Given the description of an element on the screen output the (x, y) to click on. 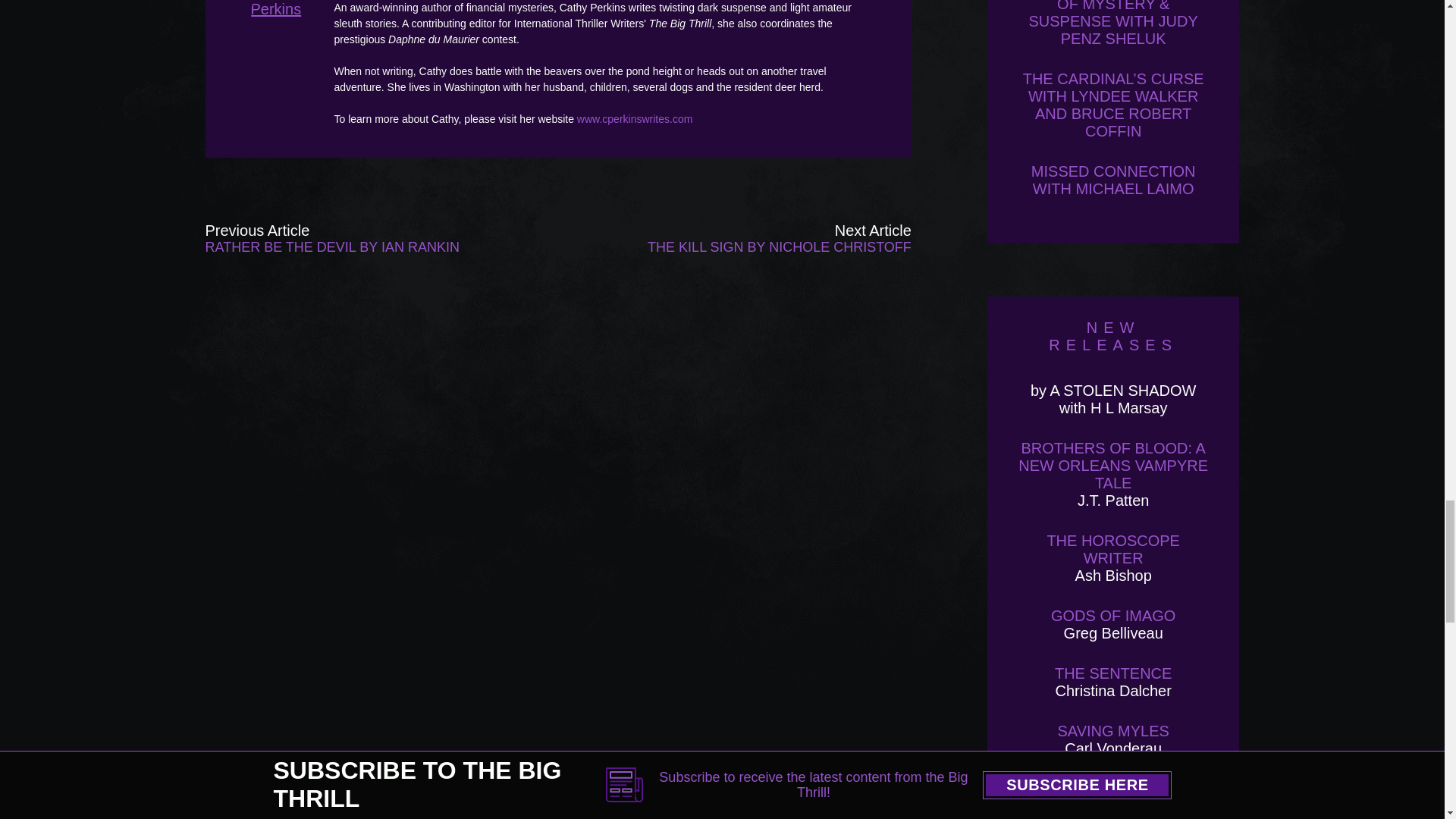
The Kill Sign by Nichole Christoff (769, 238)
Cathy Perkins (284, 22)
Rather Be the Devil by Ian Rankin (346, 238)
